Given the description of an element on the screen output the (x, y) to click on. 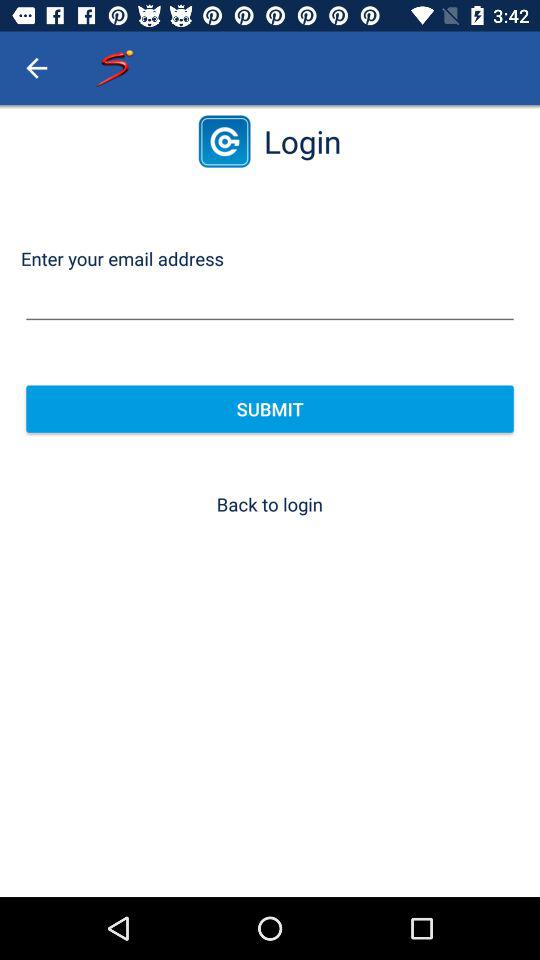
email address entry field for login (270, 300)
